Given the description of an element on the screen output the (x, y) to click on. 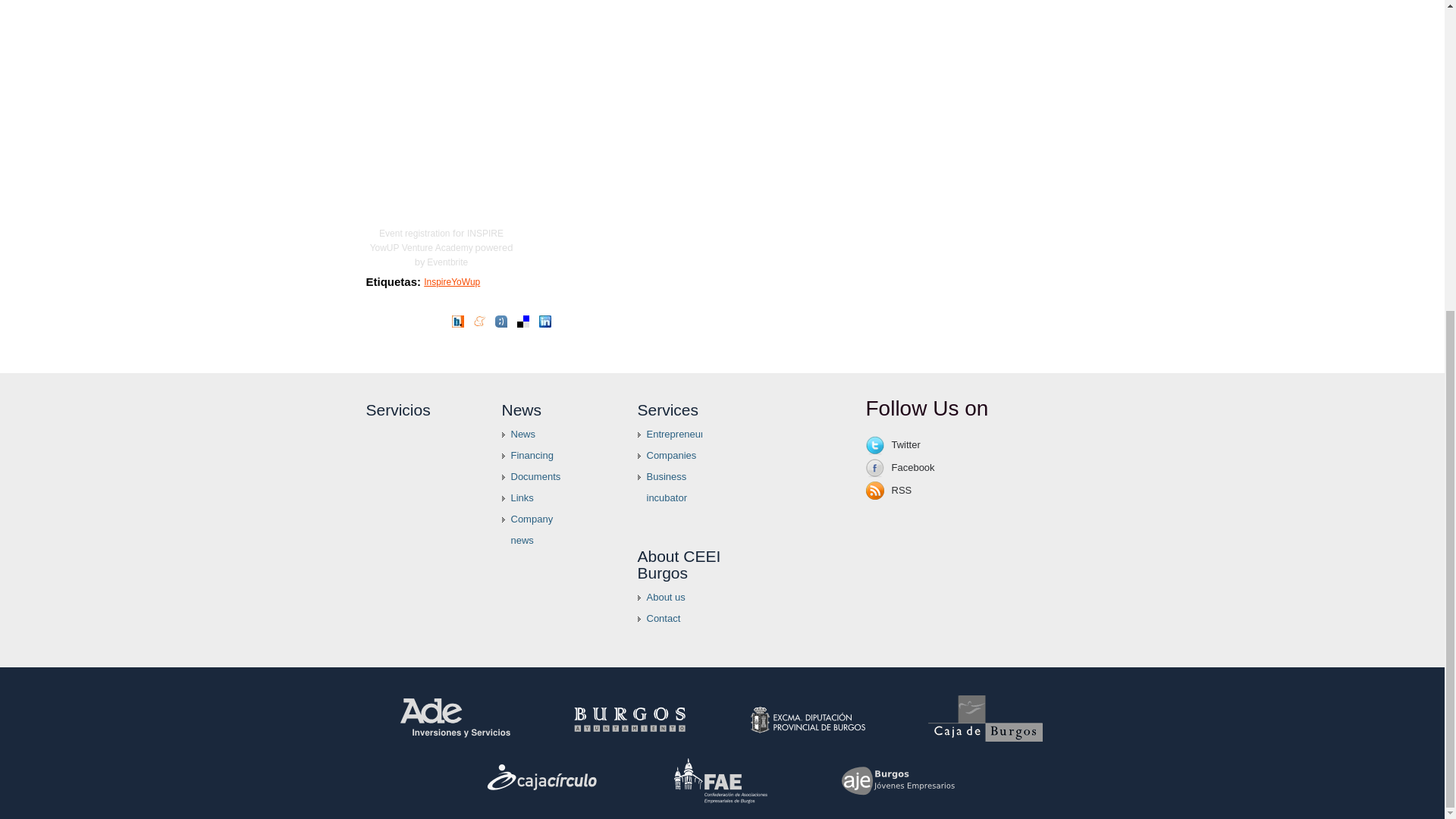
Publicar en Barrapunto.com (457, 323)
Financing (534, 455)
InspireYoWup (451, 281)
News (534, 434)
Event registration (413, 233)
Company news (534, 529)
Add to Meneame (478, 322)
Publicar en LinkedIn (544, 323)
About us (669, 597)
Share on Tuenti (500, 323)
INSPIRE YowUP Venture Academy (436, 240)
Entrepreneurs (669, 434)
Links (534, 497)
Contact (669, 618)
Eventbrite (446, 262)
